Given the description of an element on the screen output the (x, y) to click on. 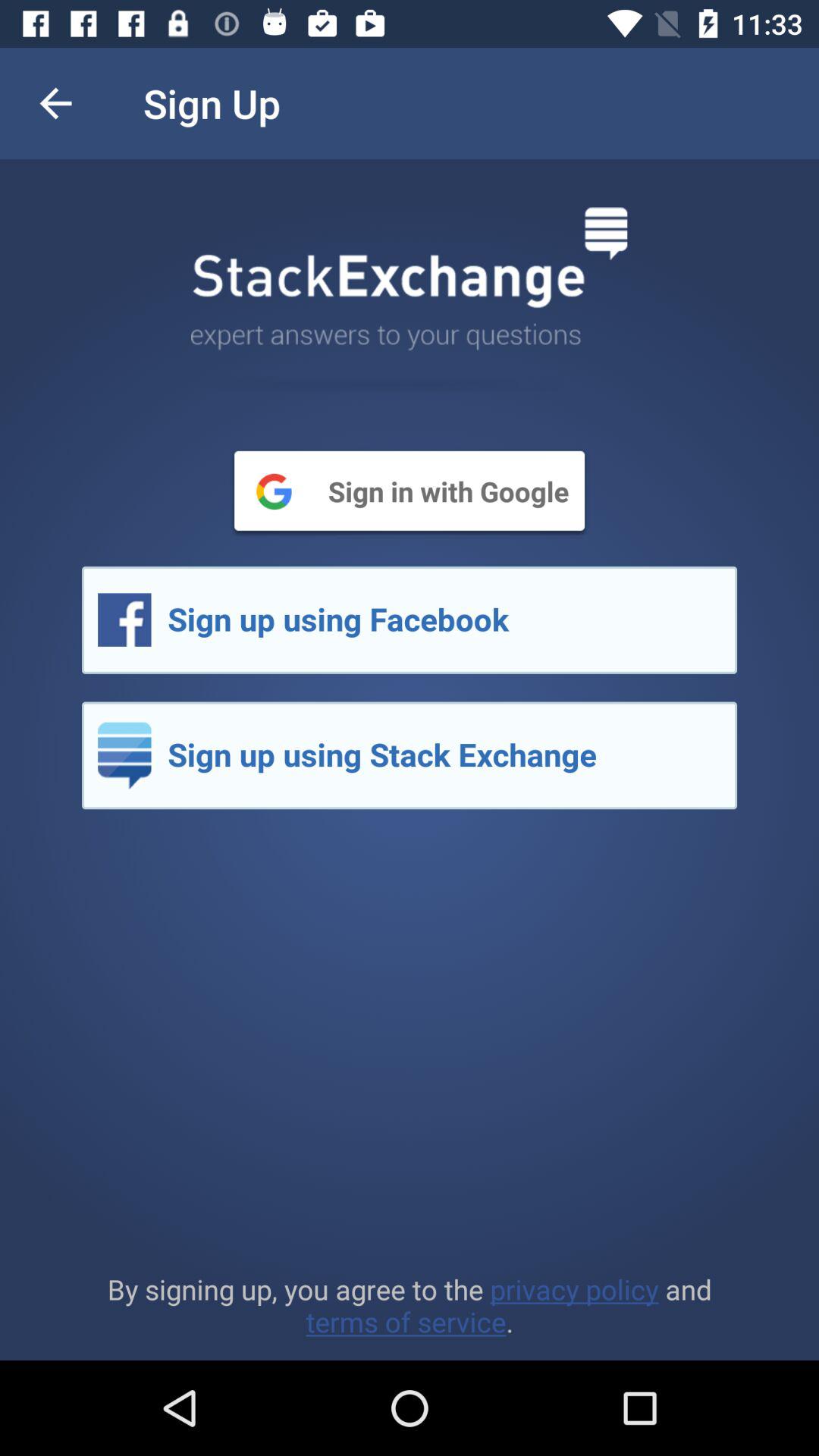
open sign up page (409, 755)
